Given the description of an element on the screen output the (x, y) to click on. 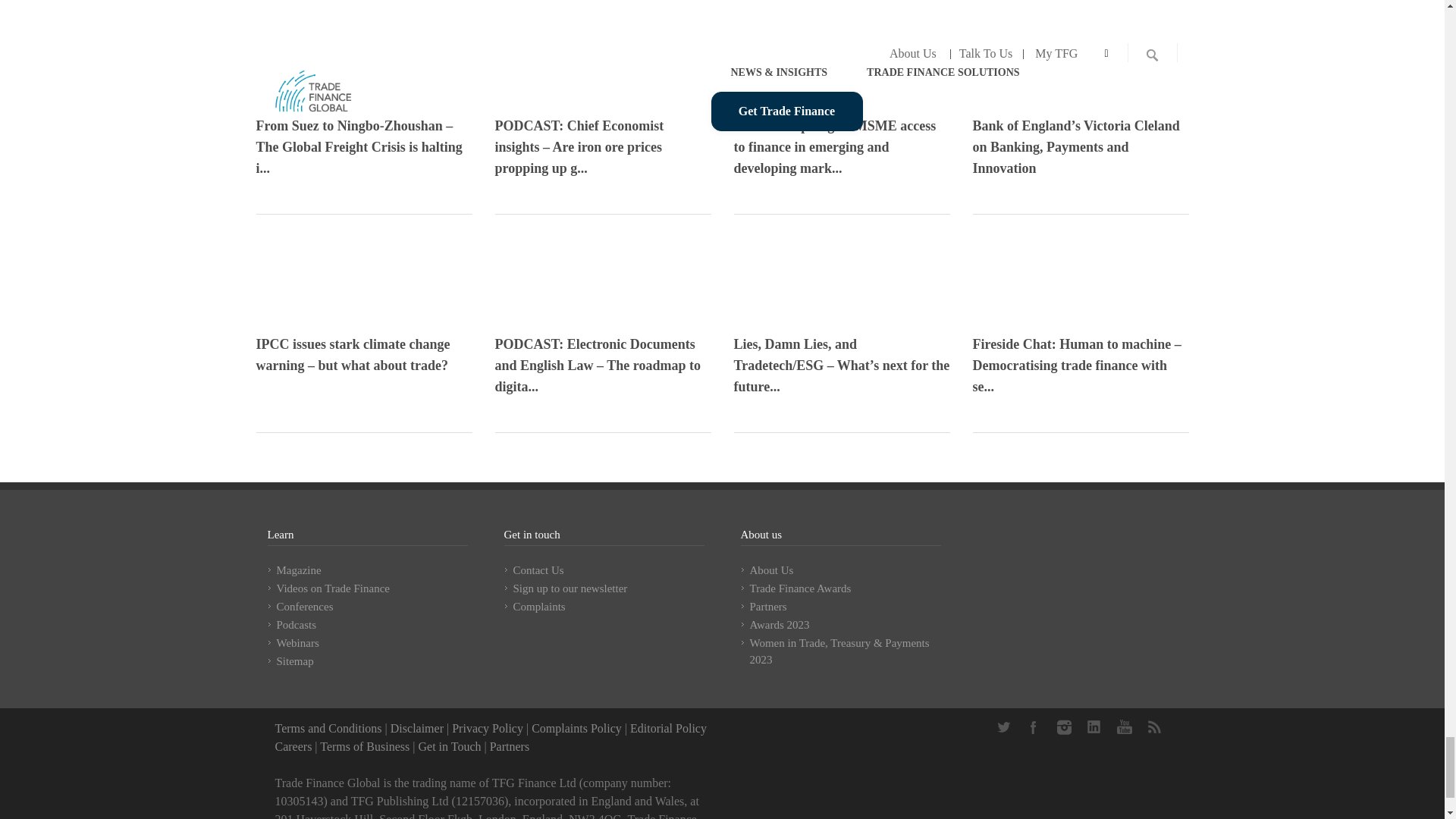
Disclaimer (417, 727)
Terms of Business (364, 746)
Privacy Policy (486, 727)
Contact Us (448, 746)
Editorial Policy (668, 727)
Trade Finance Jobs (293, 746)
Complaints Policy (576, 727)
Terms and Conditions (328, 727)
